Given the description of an element on the screen output the (x, y) to click on. 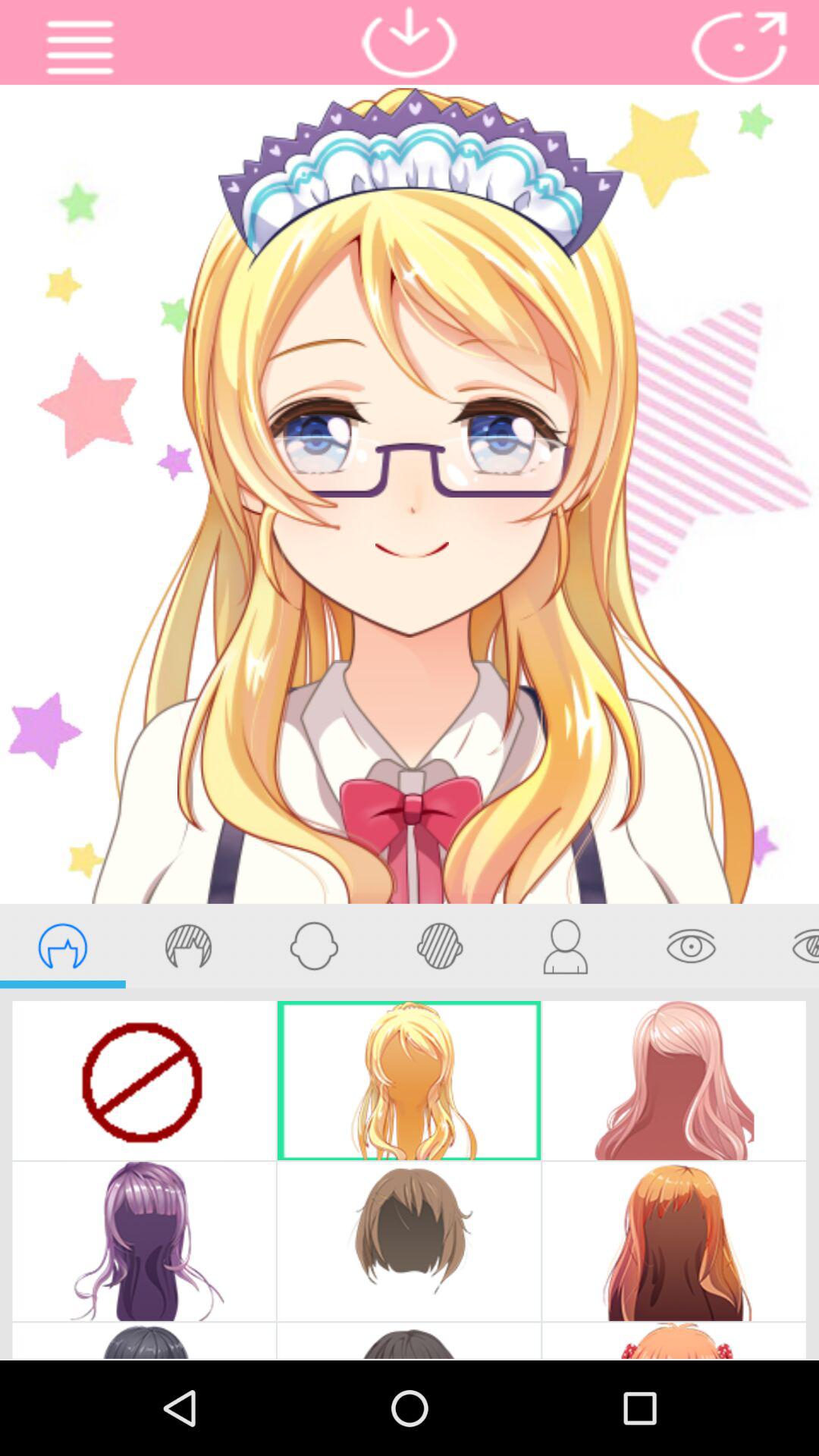
beauty eye option (786, 945)
